Given the description of an element on the screen output the (x, y) to click on. 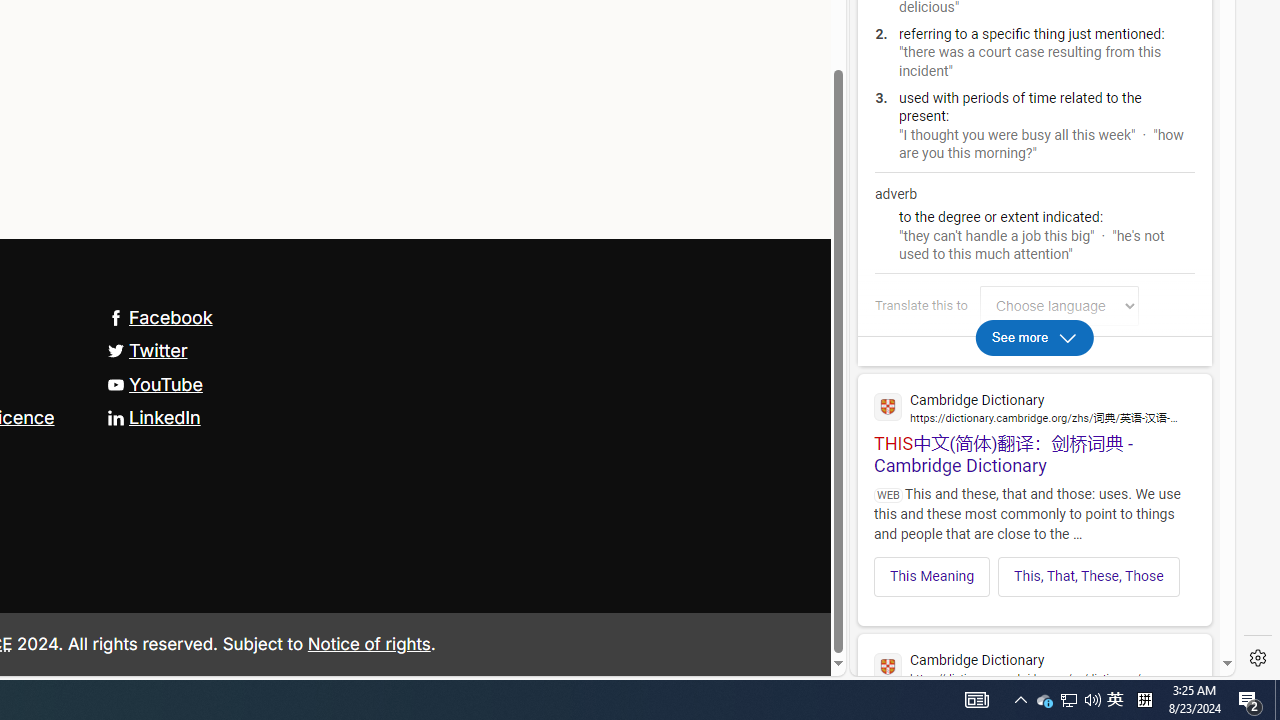
Notice of rights (369, 642)
This MeaningThis, That, These, Those (1034, 570)
Cambridge Dictionary (1034, 666)
Link for logging (1064, 305)
This Meaning (932, 575)
This Meaning (932, 575)
Global web icon (888, 667)
Twitter (147, 350)
Facebook (159, 317)
